Given the description of an element on the screen output the (x, y) to click on. 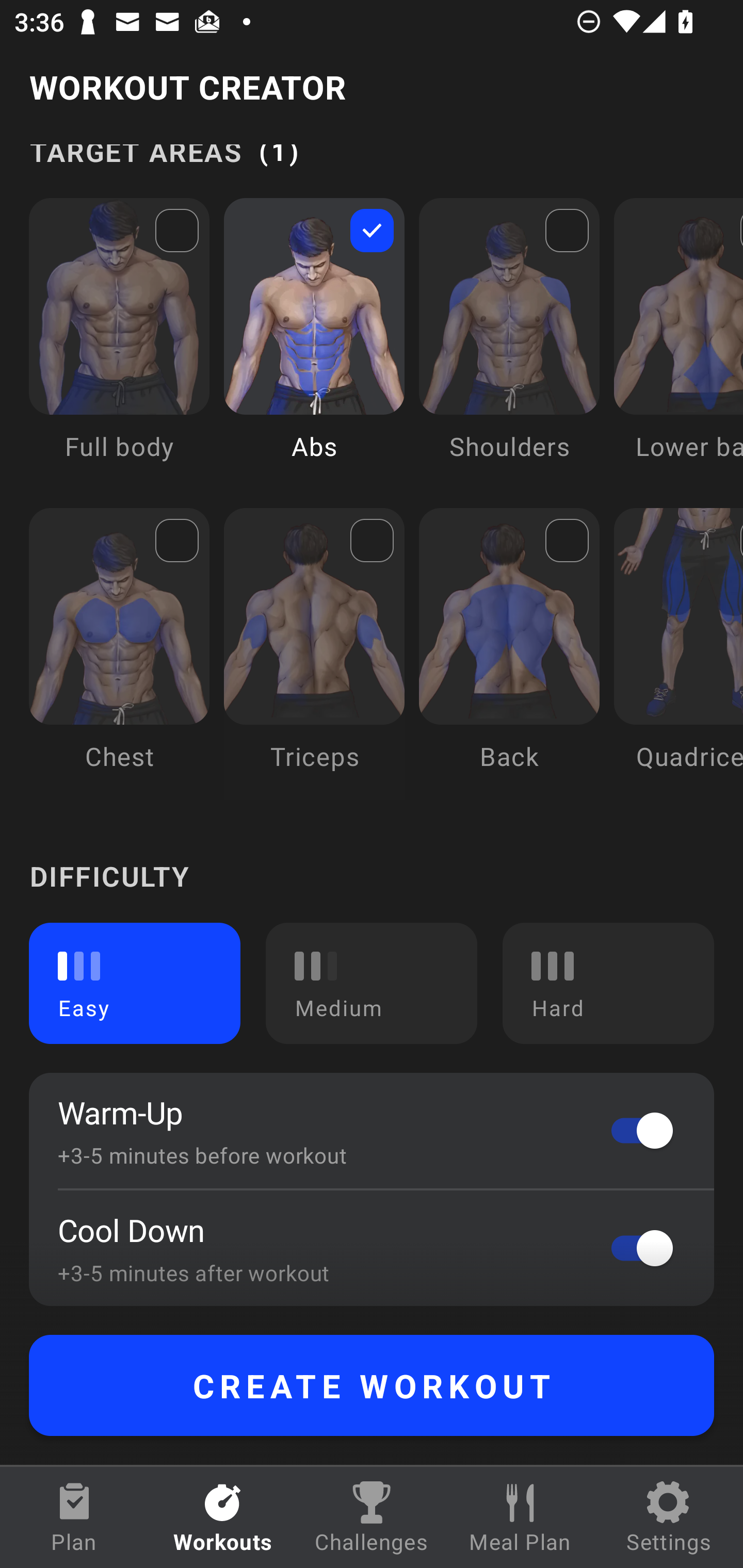
Full body (118, 343)
Shoulders (509, 343)
Lower back (678, 343)
Chest (118, 653)
Triceps (313, 653)
Back (509, 653)
Quadriceps (678, 653)
Medium (371, 982)
Hard (608, 982)
CREATE WORKOUT (371, 1385)
 Plan  (74, 1517)
 Challenges  (371, 1517)
 Meal Plan  (519, 1517)
 Settings  (668, 1517)
